Given the description of an element on the screen output the (x, y) to click on. 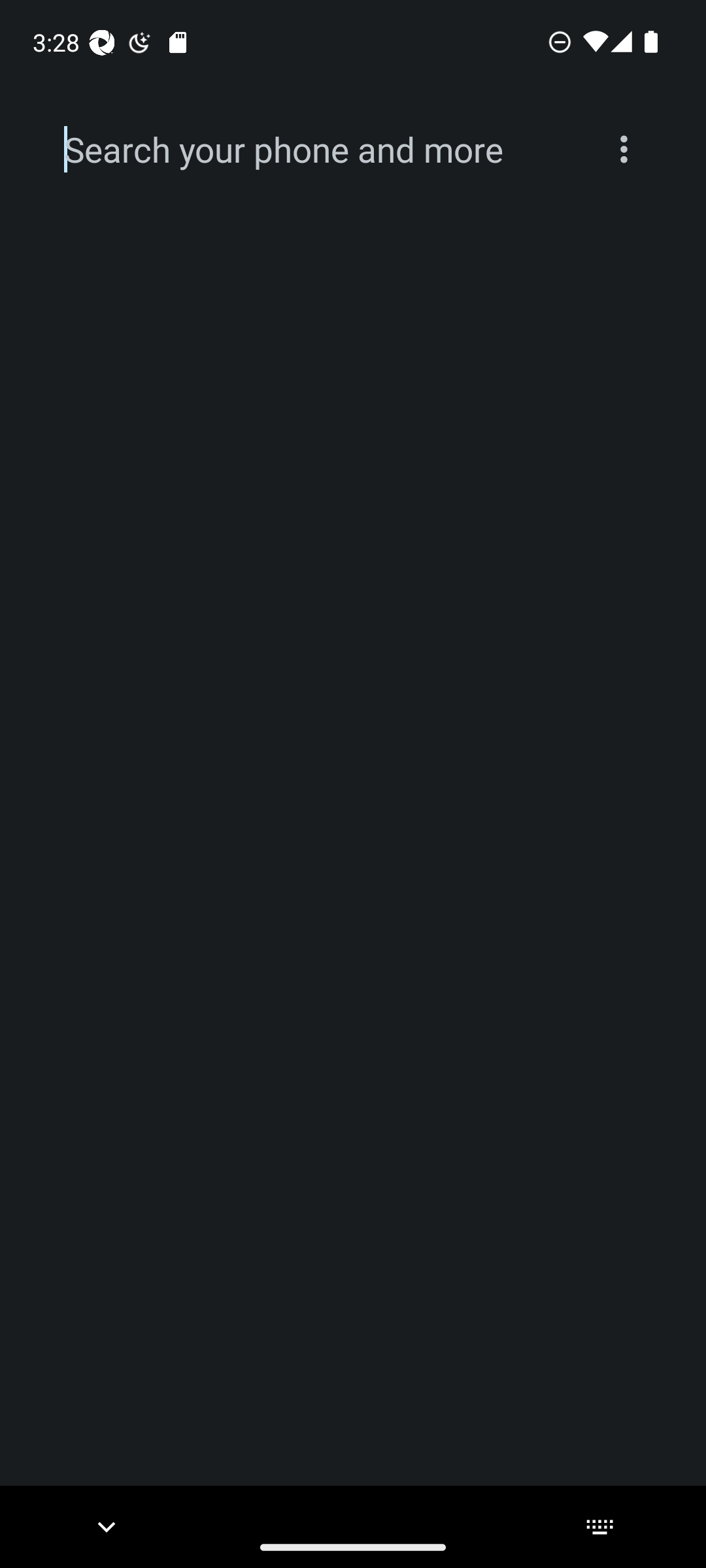
Search your phone and more (321, 149)
Preferences (623, 149)
